Given the description of an element on the screen output the (x, y) to click on. 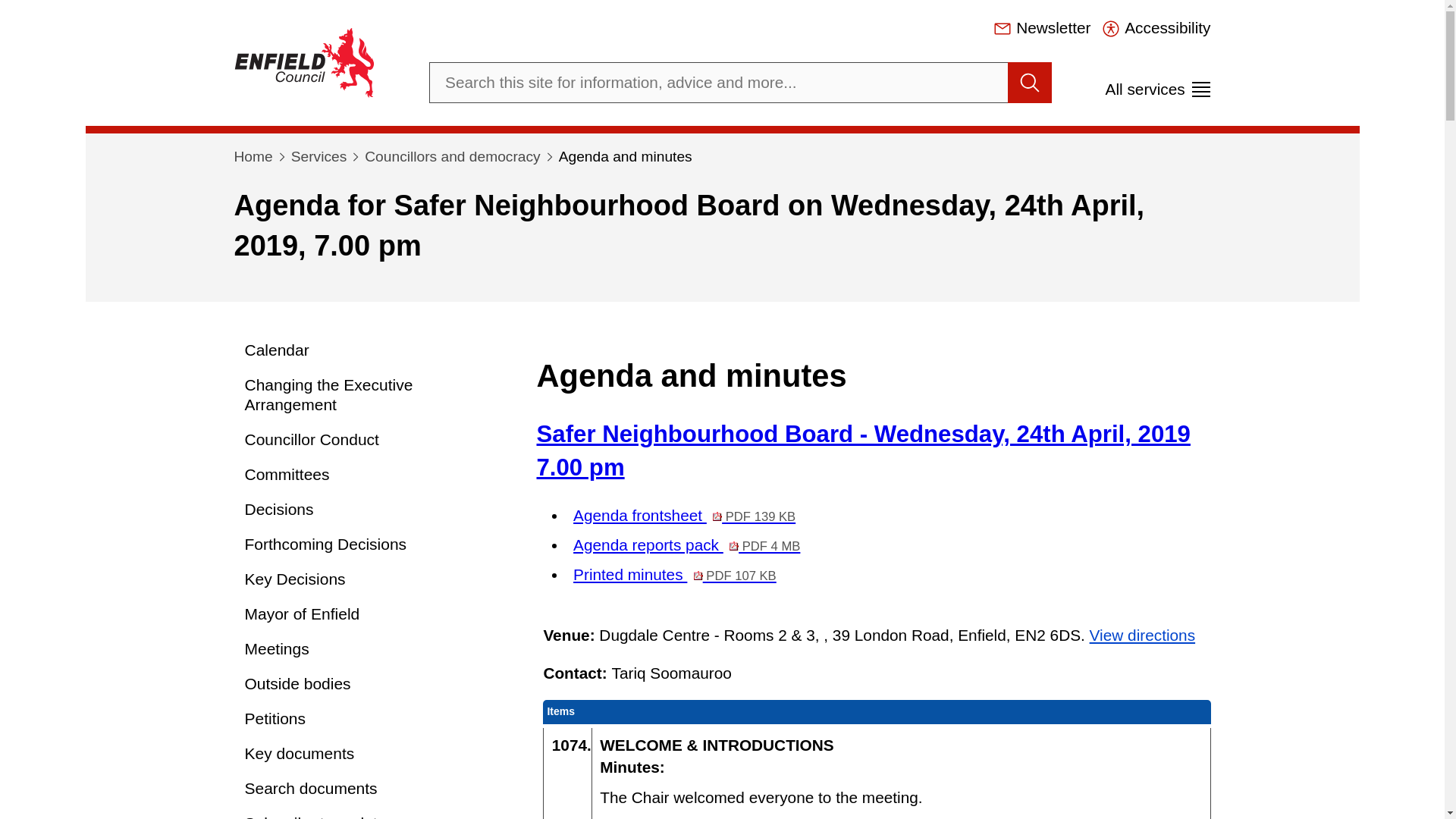
Calendar (367, 349)
Link to Key decisions (367, 579)
Newsletter (1041, 26)
Link to Key documents (367, 753)
Home (252, 156)
Link to Mayor of Enfield (367, 614)
Link to committee structure (367, 474)
Link to forthcoming decisions (367, 544)
Link to ePetitions (367, 718)
Link to outside bodies (367, 683)
Accessibility (1155, 26)
Changing the Executive Arrangement (367, 394)
Councillors and democracy (452, 156)
Link to committee meetings (367, 648)
Link to free text search (367, 788)
